Given the description of an element on the screen output the (x, y) to click on. 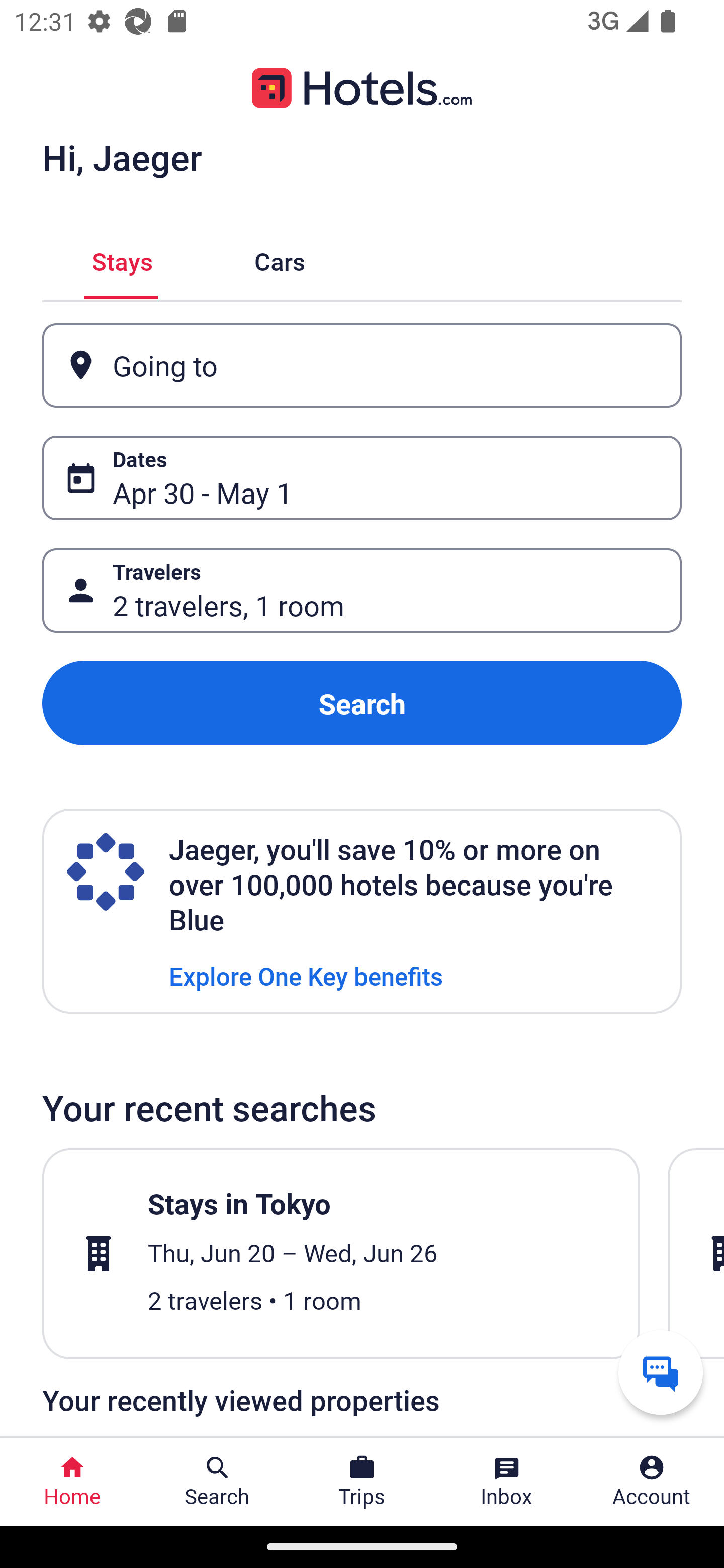
Hi, Jaeger (121, 156)
Cars (279, 259)
Going to Button (361, 365)
Dates Button Apr 30 - May 1 (361, 477)
Travelers Button 2 travelers, 1 room (361, 590)
Search (361, 702)
Get help from a virtual agent (660, 1371)
Search Search Button (216, 1481)
Trips Trips Button (361, 1481)
Inbox Inbox Button (506, 1481)
Account Profile. Button (651, 1481)
